Given the description of an element on the screen output the (x, y) to click on. 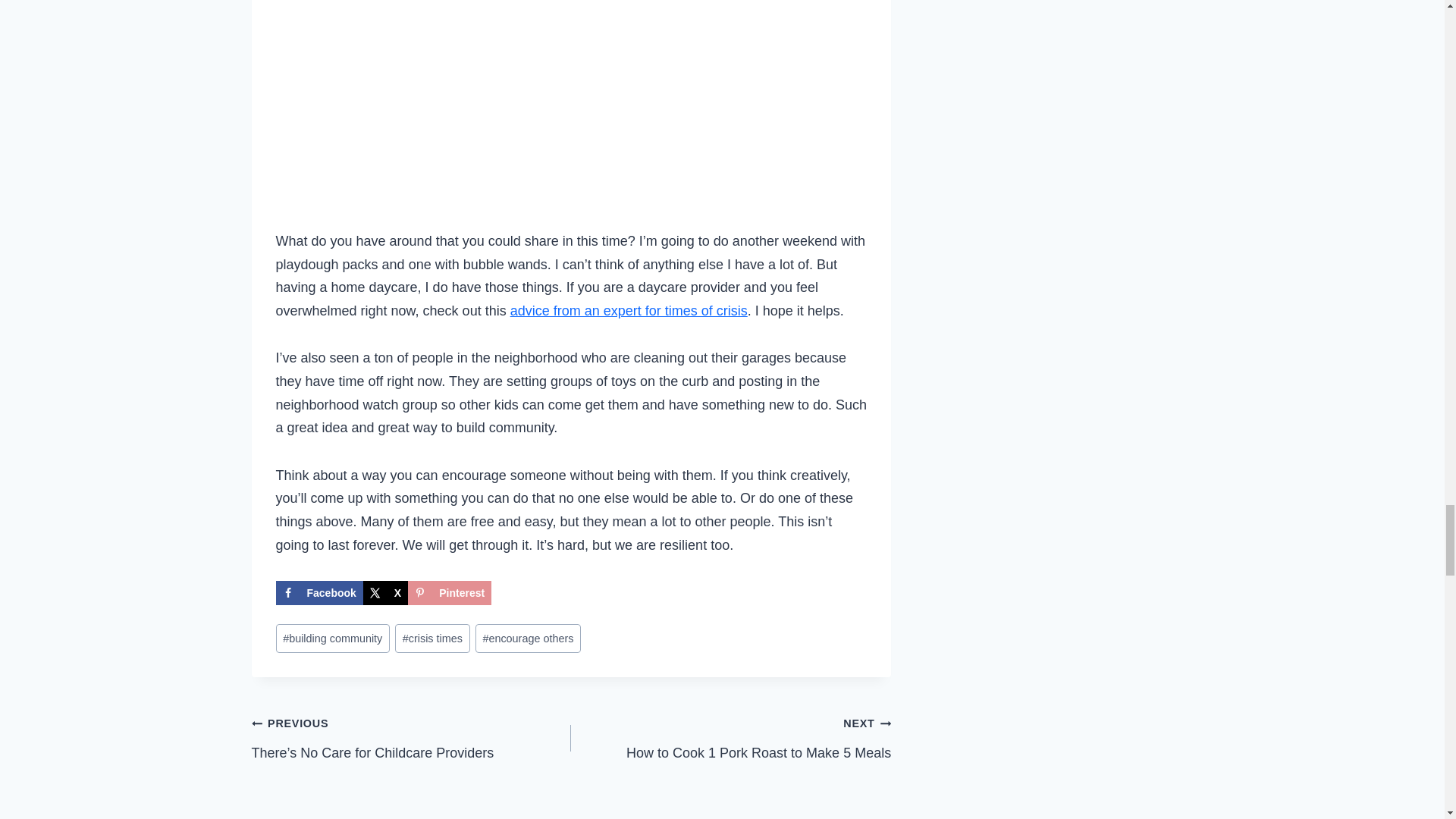
building community (333, 638)
Share on X (384, 592)
crisis times (431, 638)
Share on Facebook (319, 592)
Pinterest (449, 592)
encourage others (528, 638)
X (384, 592)
Facebook (319, 592)
advice from an expert for times of crisis (730, 737)
Save to Pinterest (629, 310)
